Given the description of an element on the screen output the (x, y) to click on. 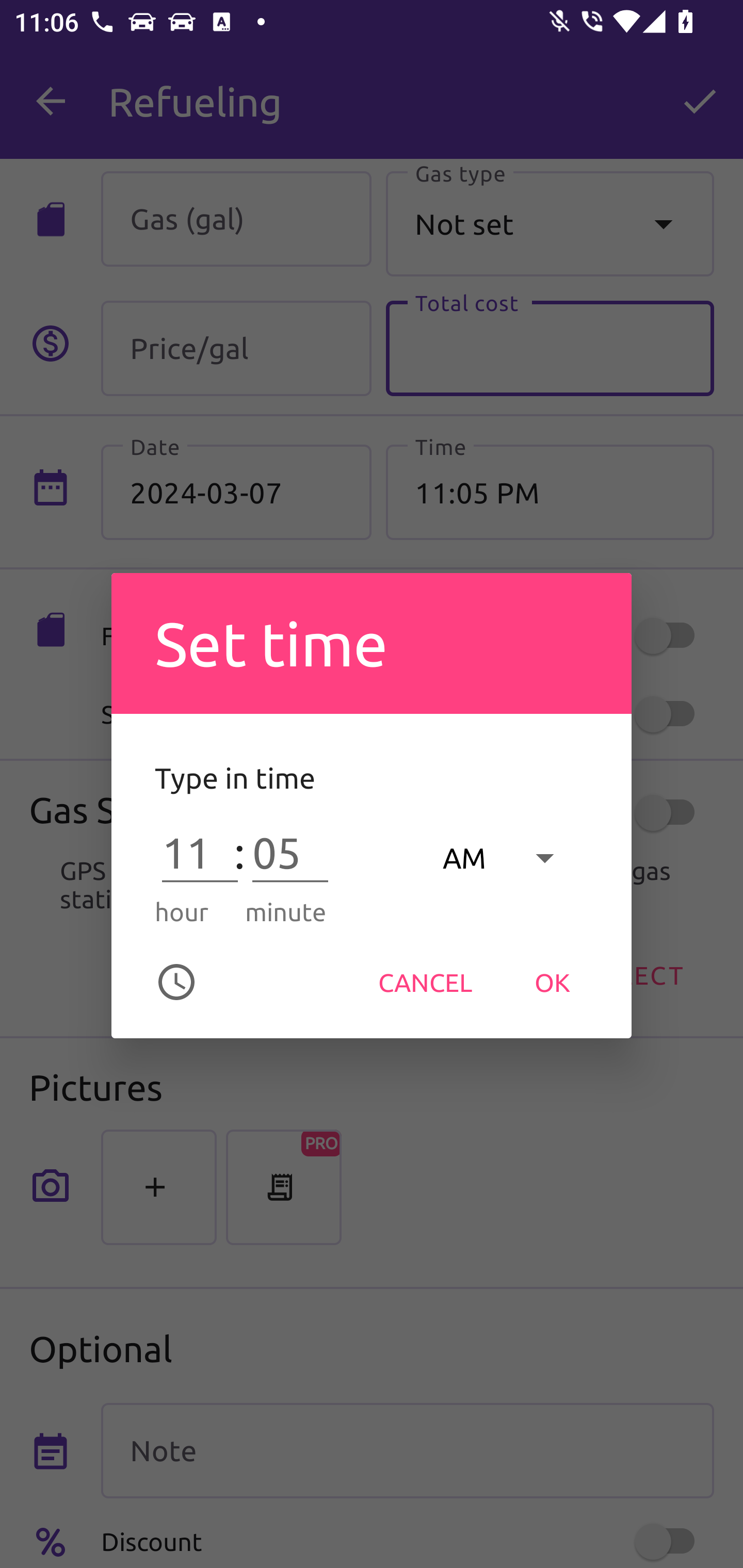
11 (199, 852)
05 (290, 852)
AM (507, 857)
CANCEL (425, 981)
OK (552, 981)
Switch to clock mode for the time input. (175, 982)
